Given the description of an element on the screen output the (x, y) to click on. 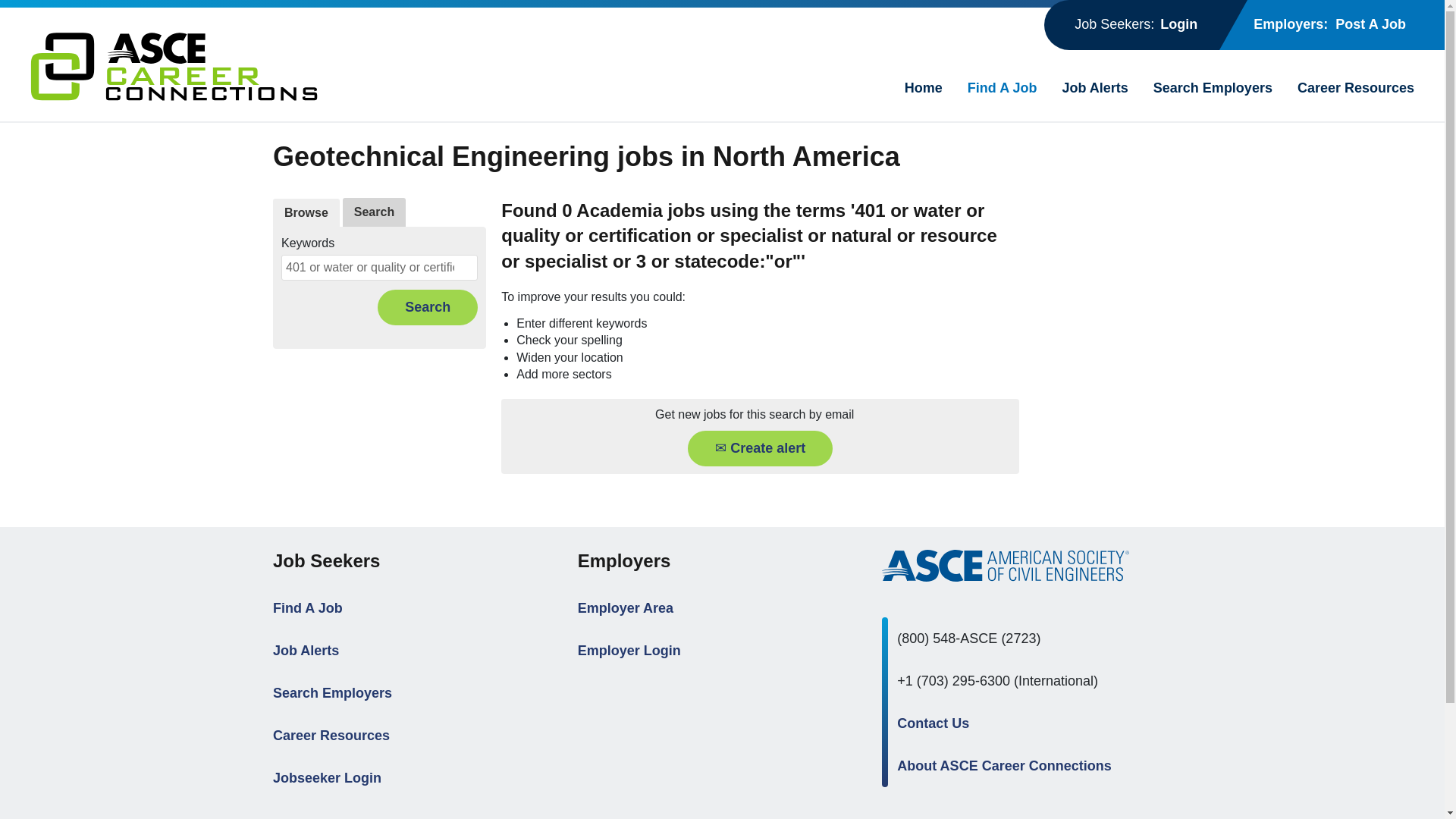
Job Alerts (306, 650)
Career Resources (1355, 87)
Search (374, 212)
Job Alerts (1093, 87)
Browse (306, 213)
About ASCE Career Connections (1003, 765)
Employer Area (625, 607)
Search Employers (332, 693)
Find A Job (307, 607)
Find A Job (1002, 87)
Career Resources (331, 735)
Employer Login (629, 650)
Search (427, 307)
Search (427, 307)
